Given the description of an element on the screen output the (x, y) to click on. 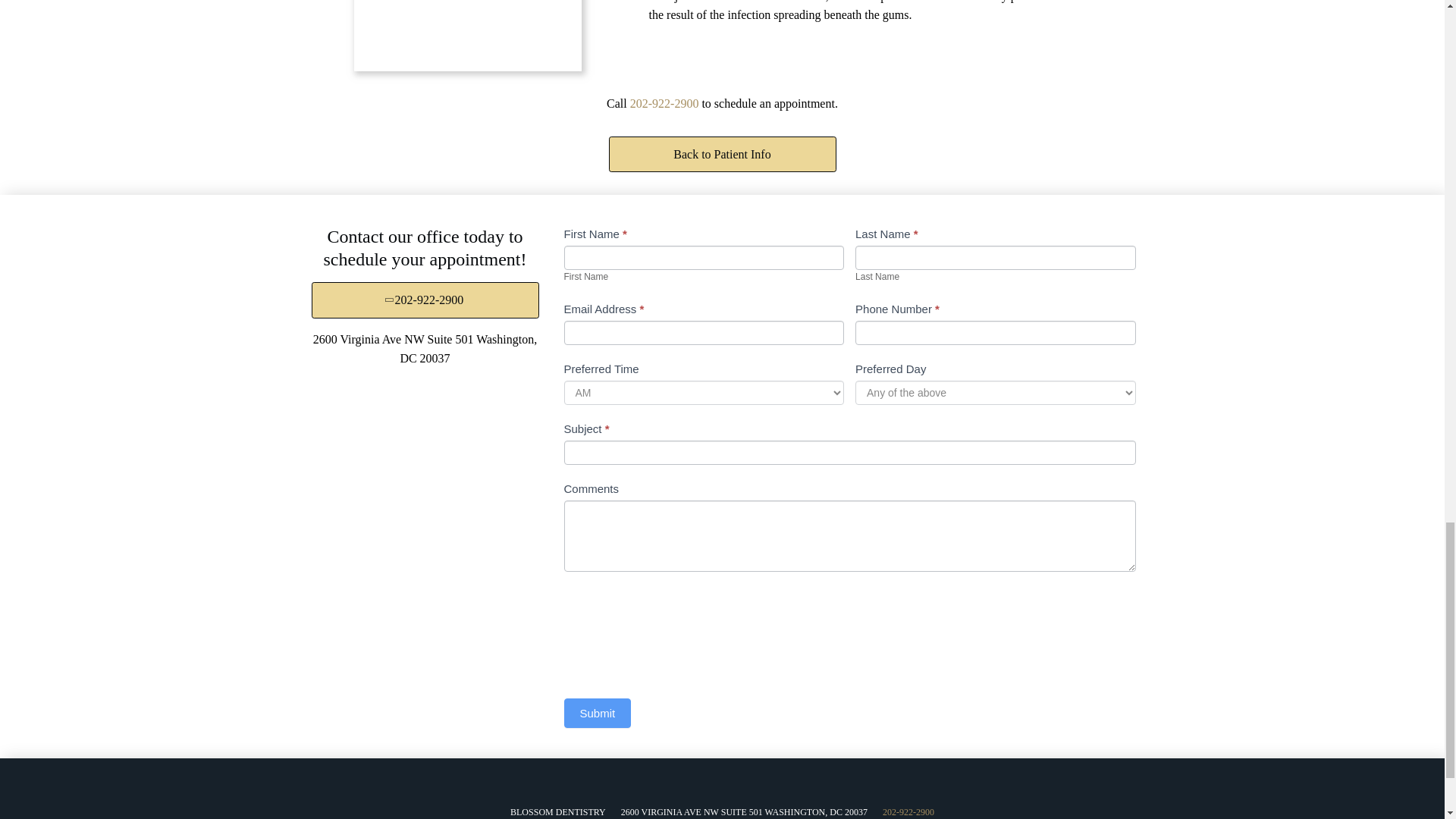
Submit (597, 713)
